Given the description of an element on the screen output the (x, y) to click on. 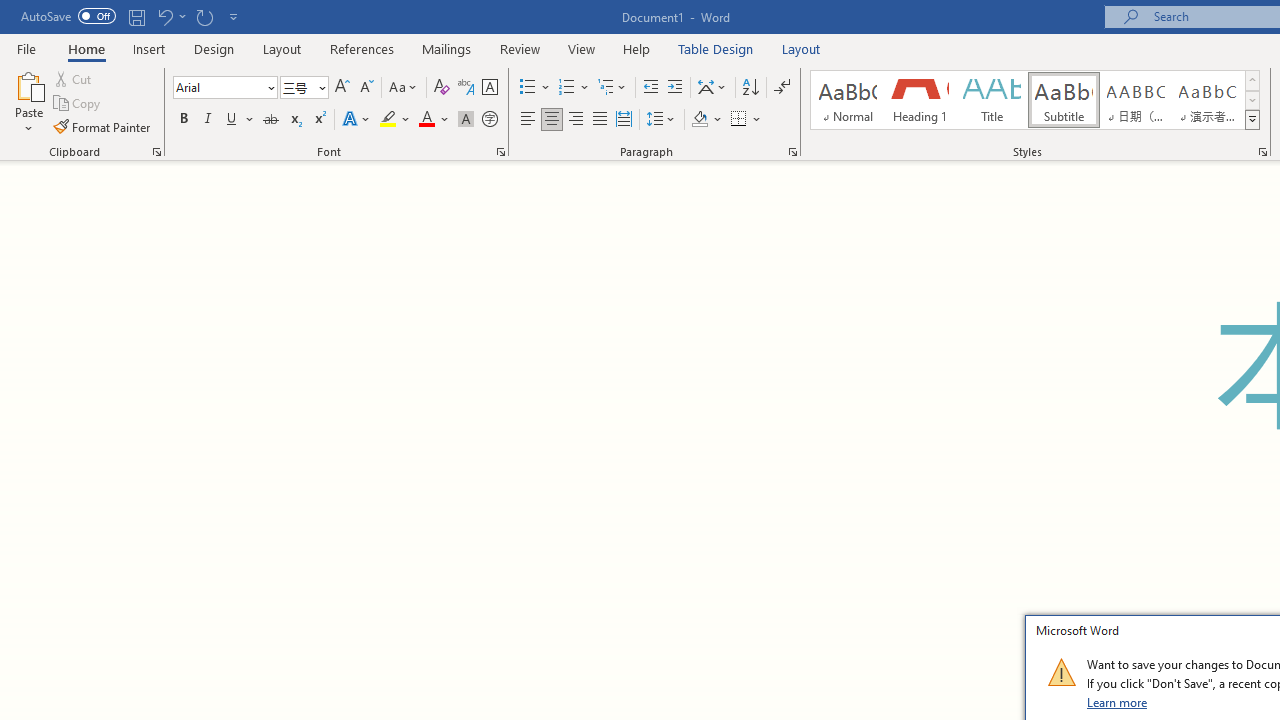
Multilevel List (613, 87)
Decrease Indent (650, 87)
Text Highlight Color Yellow (388, 119)
Subscript (294, 119)
Review (520, 48)
Align Right (575, 119)
Subtitle (1063, 100)
Title (991, 100)
Justify (599, 119)
Clear Formatting (442, 87)
Bold (183, 119)
Character Shading (465, 119)
